Given the description of an element on the screen output the (x, y) to click on. 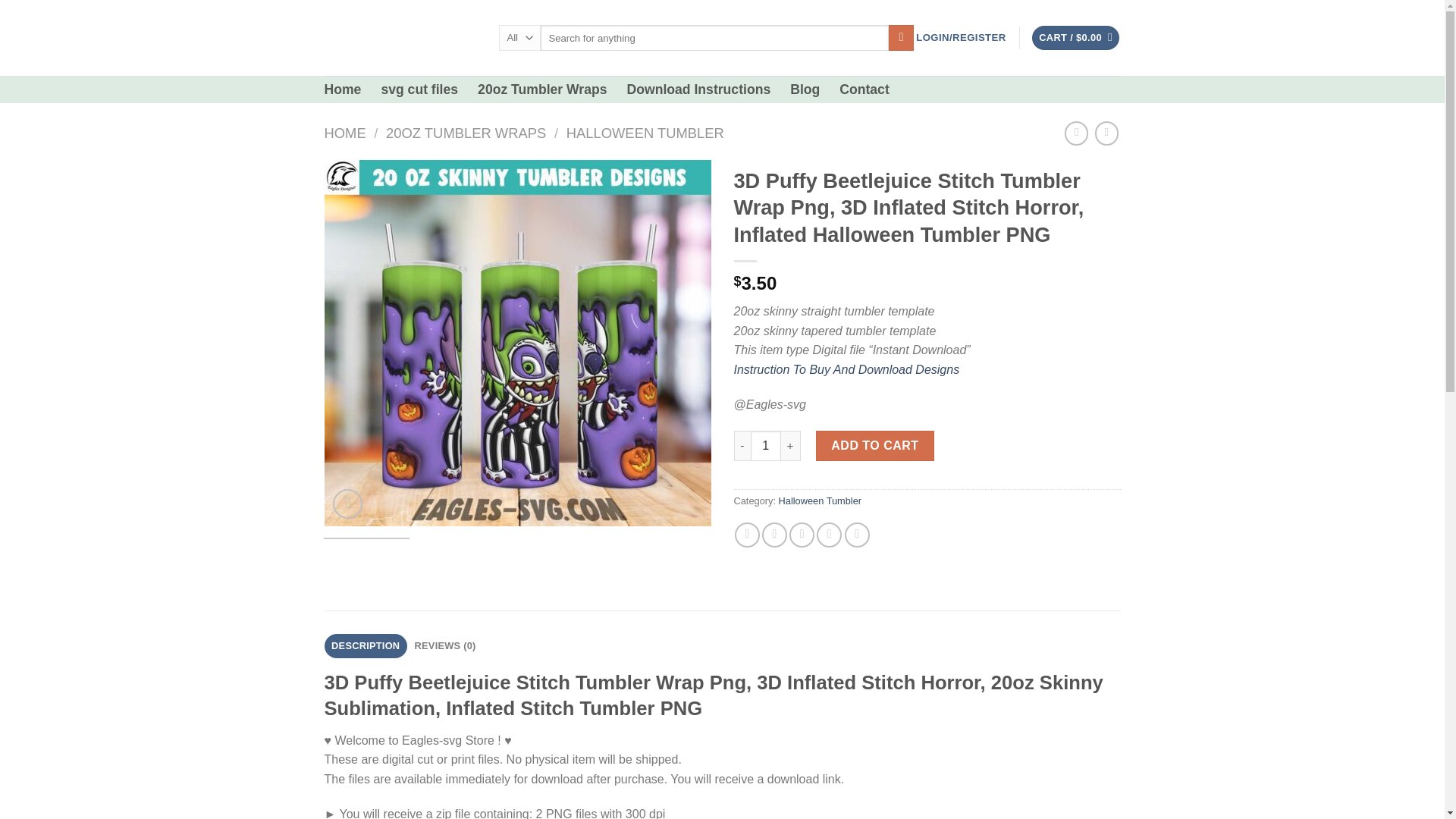
20OZ TUMBLER WRAPS (465, 132)
Share on Facebook (747, 534)
svg cut files (419, 89)
Search (901, 37)
Home (342, 89)
1 (765, 445)
20oz Tumbler Wraps (542, 89)
Qty (765, 445)
HOME (345, 132)
Instruction To Buy And Download Designs (846, 369)
Download Instructions (699, 89)
ADD TO CART (874, 445)
Halloween Tumbler (819, 500)
HALLOWEEN TUMBLER (644, 132)
